Given the description of an element on the screen output the (x, y) to click on. 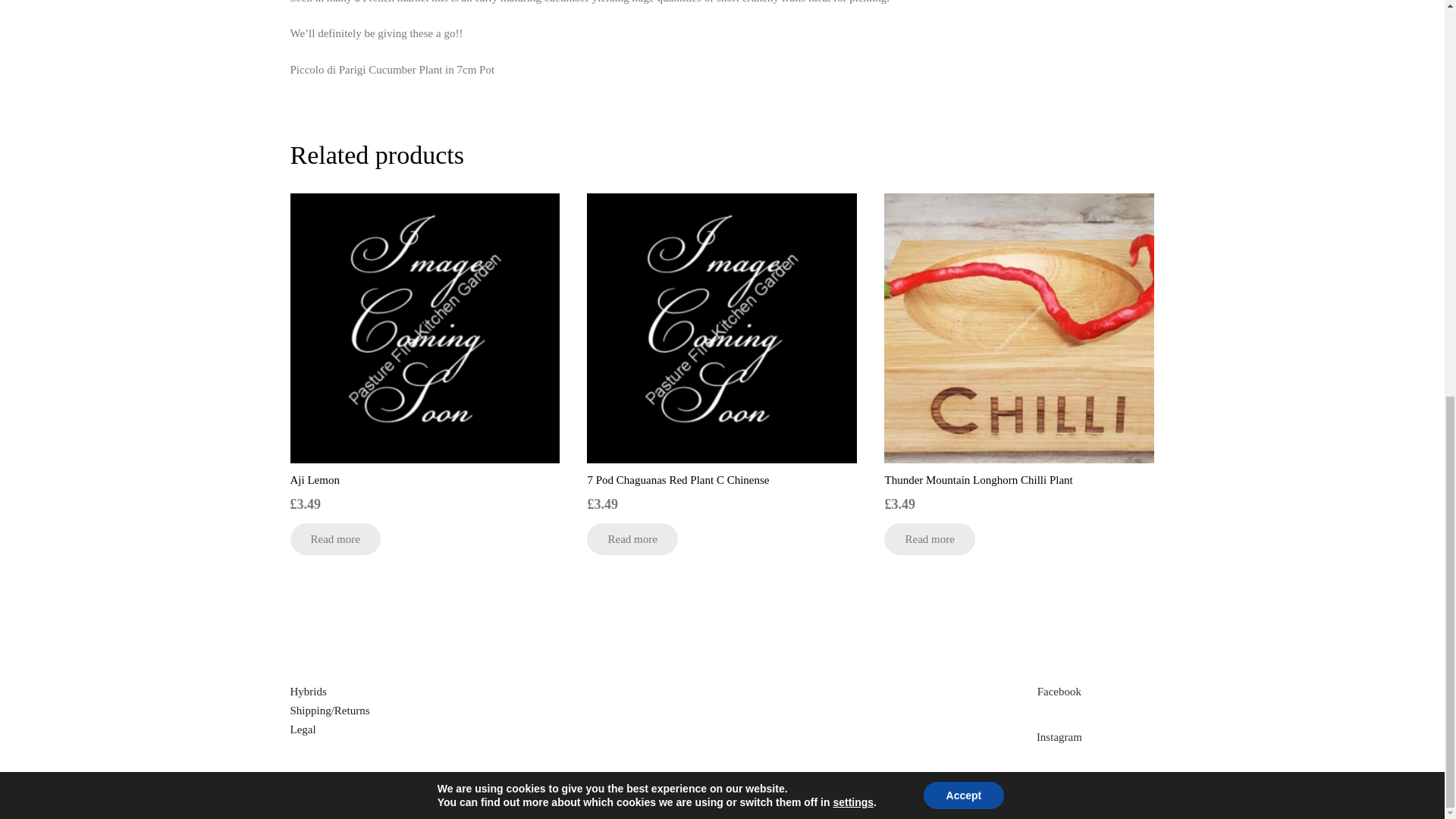
settings (852, 35)
Read more (928, 539)
Read more (631, 539)
Facebook (1058, 691)
Facebook (1058, 691)
Legal (302, 729)
Accept (963, 28)
Back to top (1413, 78)
Instagram (1058, 737)
Read more (334, 539)
Instagram (1058, 737)
Hybrids (307, 691)
